Given the description of an element on the screen output the (x, y) to click on. 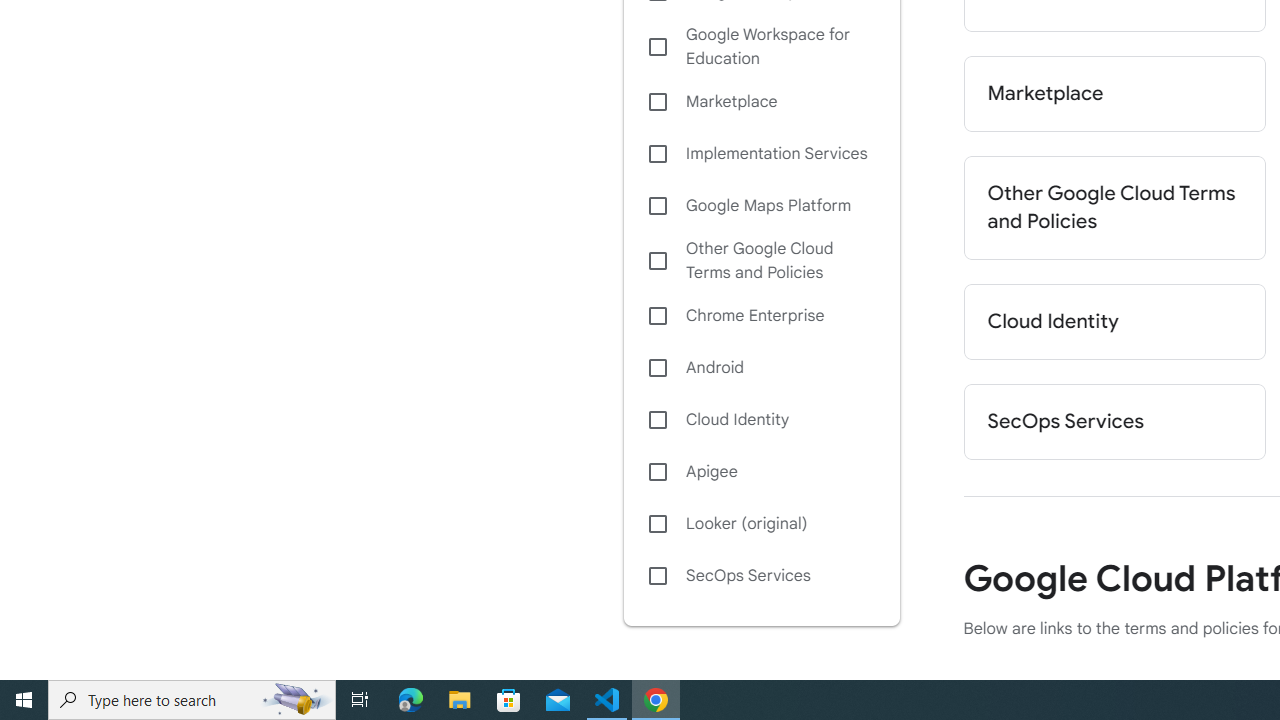
Apigee (761, 471)
